Given the description of an element on the screen output the (x, y) to click on. 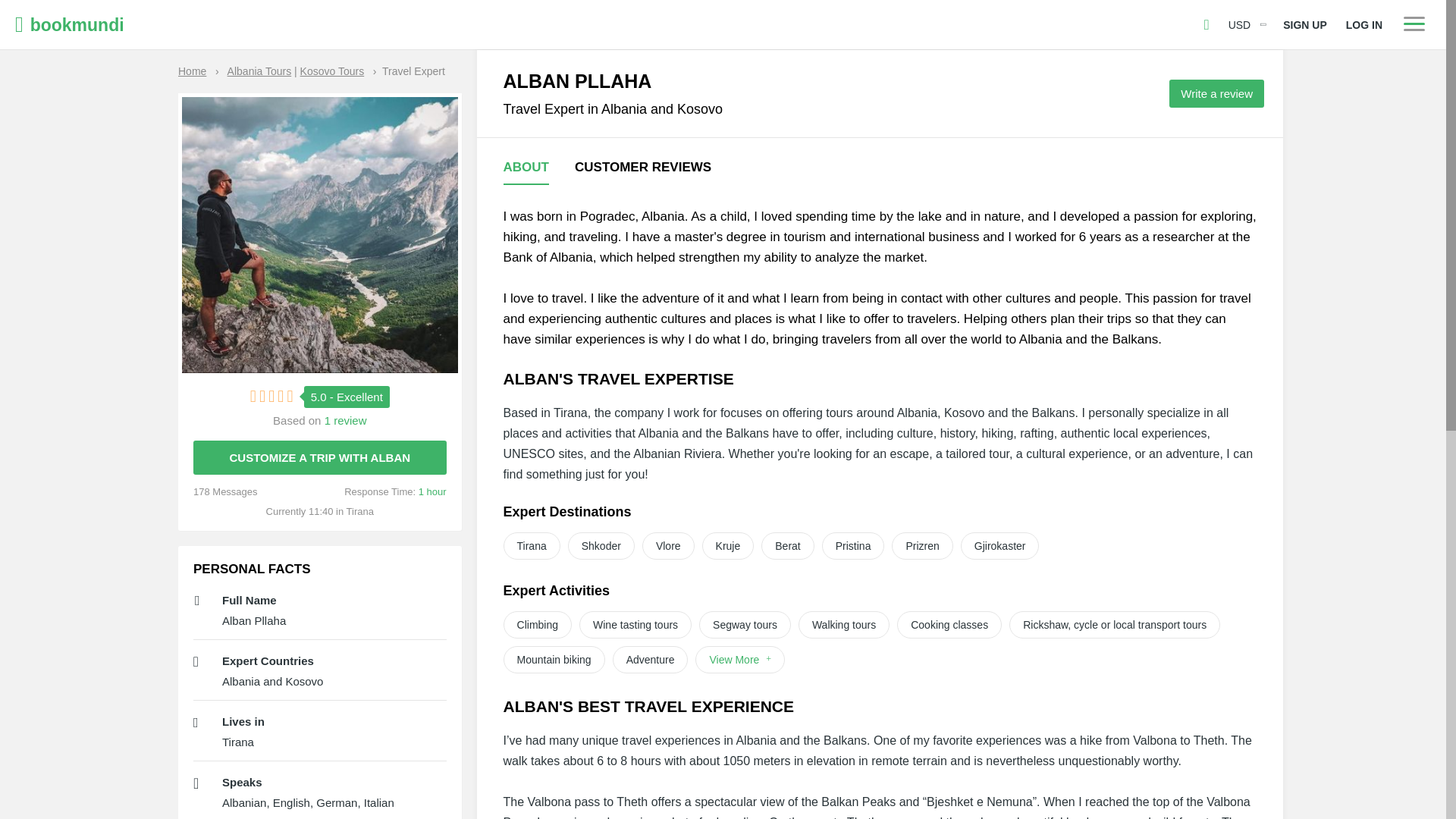
Vlore (668, 545)
Kruje (727, 545)
Tirana (531, 545)
ABOUT (525, 169)
LOG IN (1363, 24)
CUSTOMIZE A TRIP WITH ALBAN (319, 457)
SIGN UP (1304, 24)
Berat (787, 545)
Write a review (1216, 92)
1 review (345, 420)
